Given the description of an element on the screen output the (x, y) to click on. 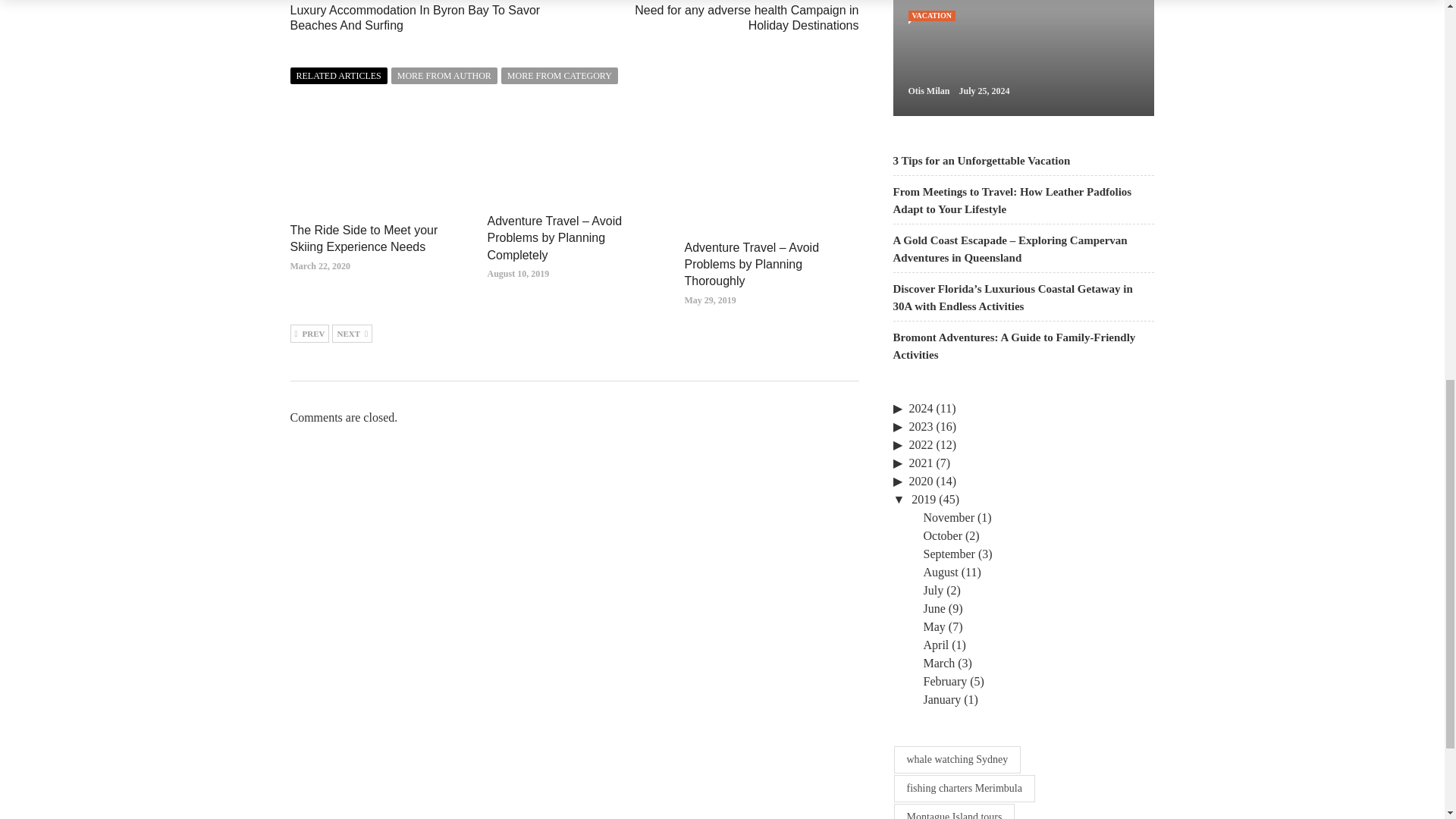
MORE FROM AUTHOR (444, 75)
Previous (309, 333)
The Ride Side to Meet your Skiing Experience Needs (363, 238)
RELATED ARTICLES (338, 75)
Next (351, 333)
Need for any adverse health Campaign in Holiday Destinations (746, 18)
MORE FROM CATEGORY (558, 75)
